Given the description of an element on the screen output the (x, y) to click on. 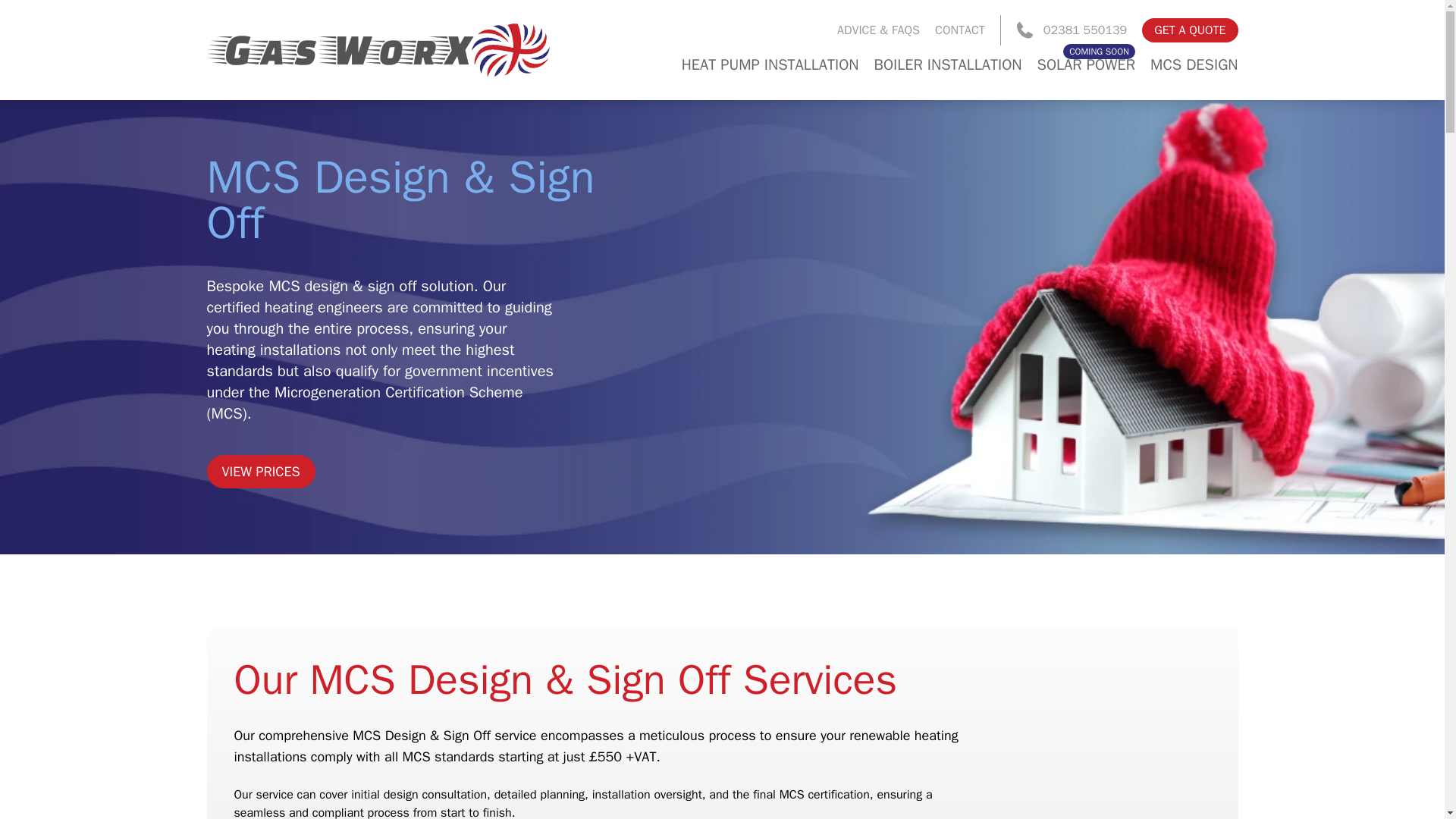
GET A QUOTE (1189, 30)
VIEW PRICES (260, 471)
SOLAR POWER (1085, 64)
HEAT PUMP INSTALLATION (770, 64)
CONTACT (959, 29)
MCS DESIGN (1193, 64)
02381 550139 (1071, 30)
BOILER INSTALLATION (947, 64)
